Given the description of an element on the screen output the (x, y) to click on. 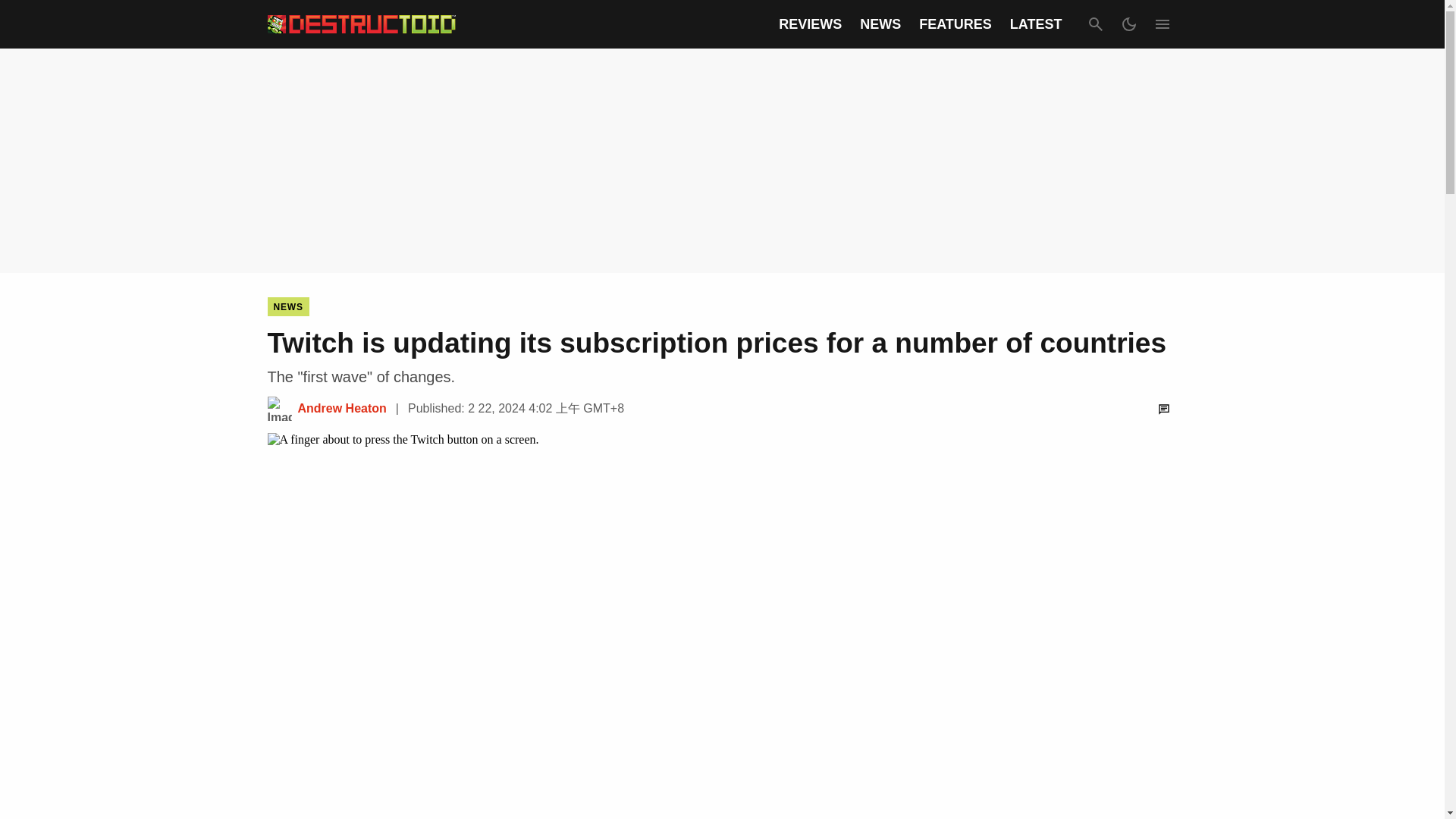
NEWS (880, 23)
FEATURES (954, 23)
LATEST (1036, 23)
Search (1094, 24)
NEWS (287, 306)
Dark Mode (1127, 24)
REVIEWS (809, 23)
Expand Menu (1161, 24)
